Given the description of an element on the screen output the (x, y) to click on. 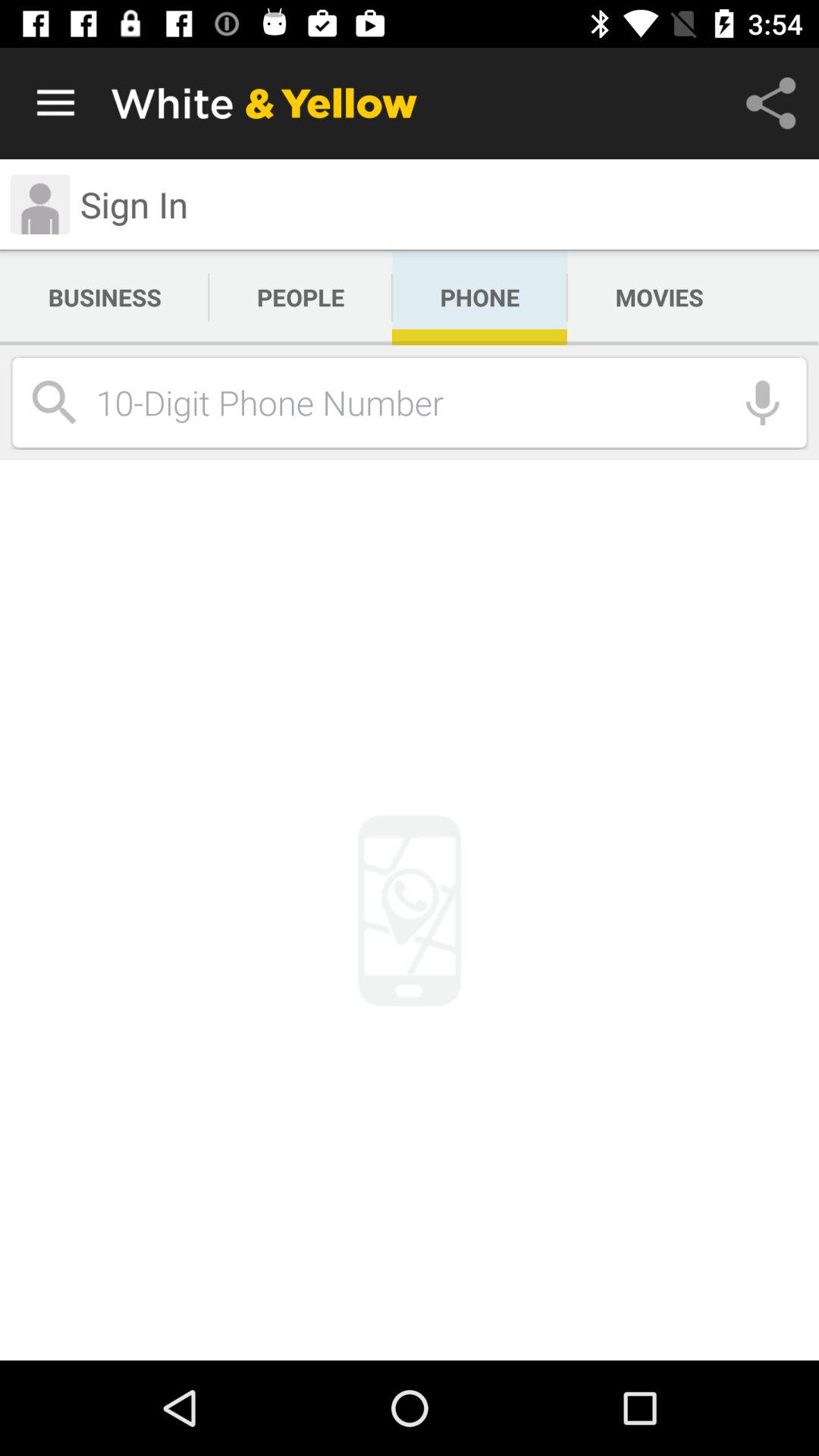
press item above business icon (134, 204)
